Given the description of an element on the screen output the (x, y) to click on. 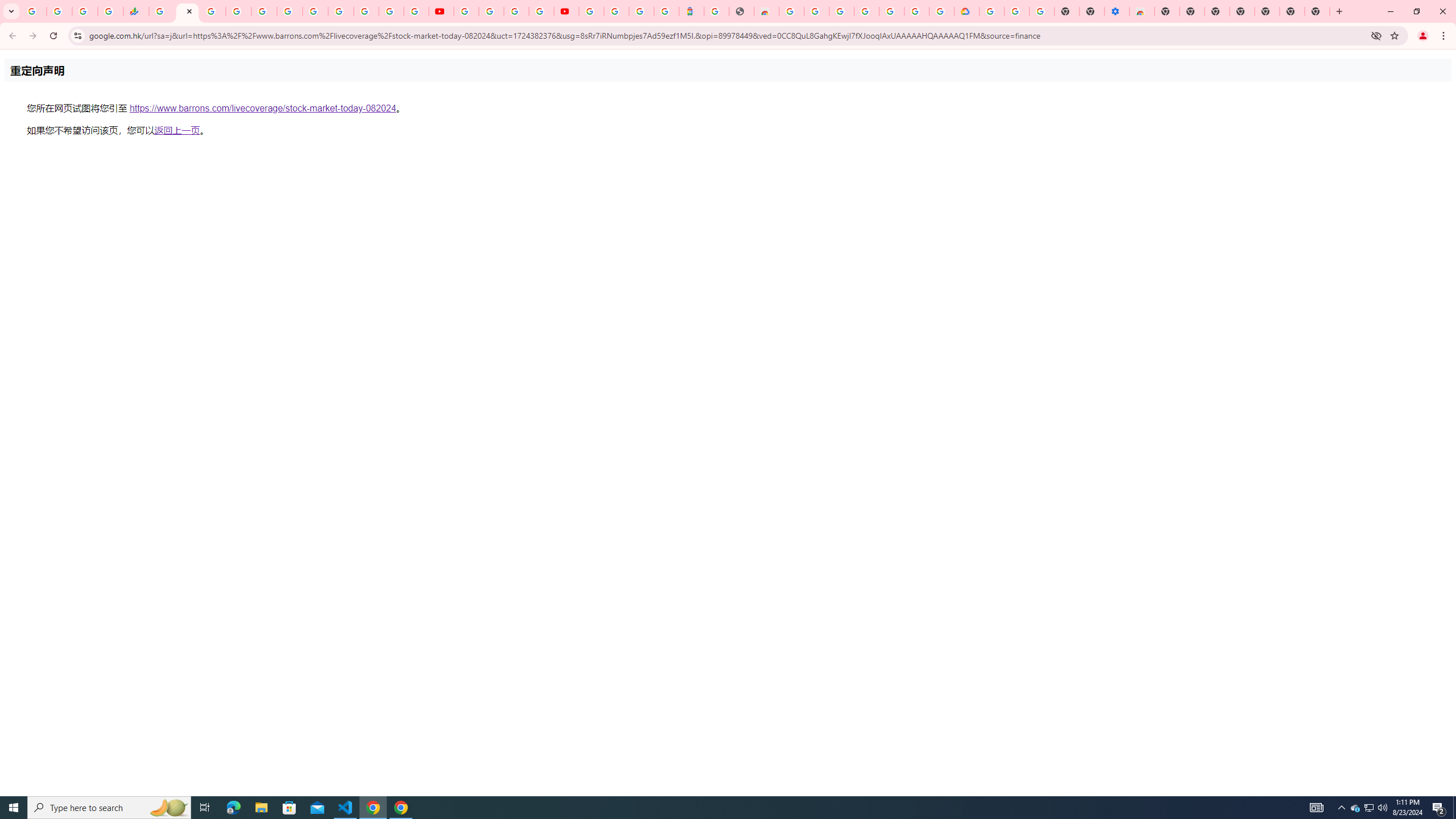
Create your Google Account (516, 11)
Atour Hotel - Google hotels (691, 11)
Sign in - Google Accounts (916, 11)
Chrome Web Store - Accessibility extensions (1141, 11)
